Given the description of an element on the screen output the (x, y) to click on. 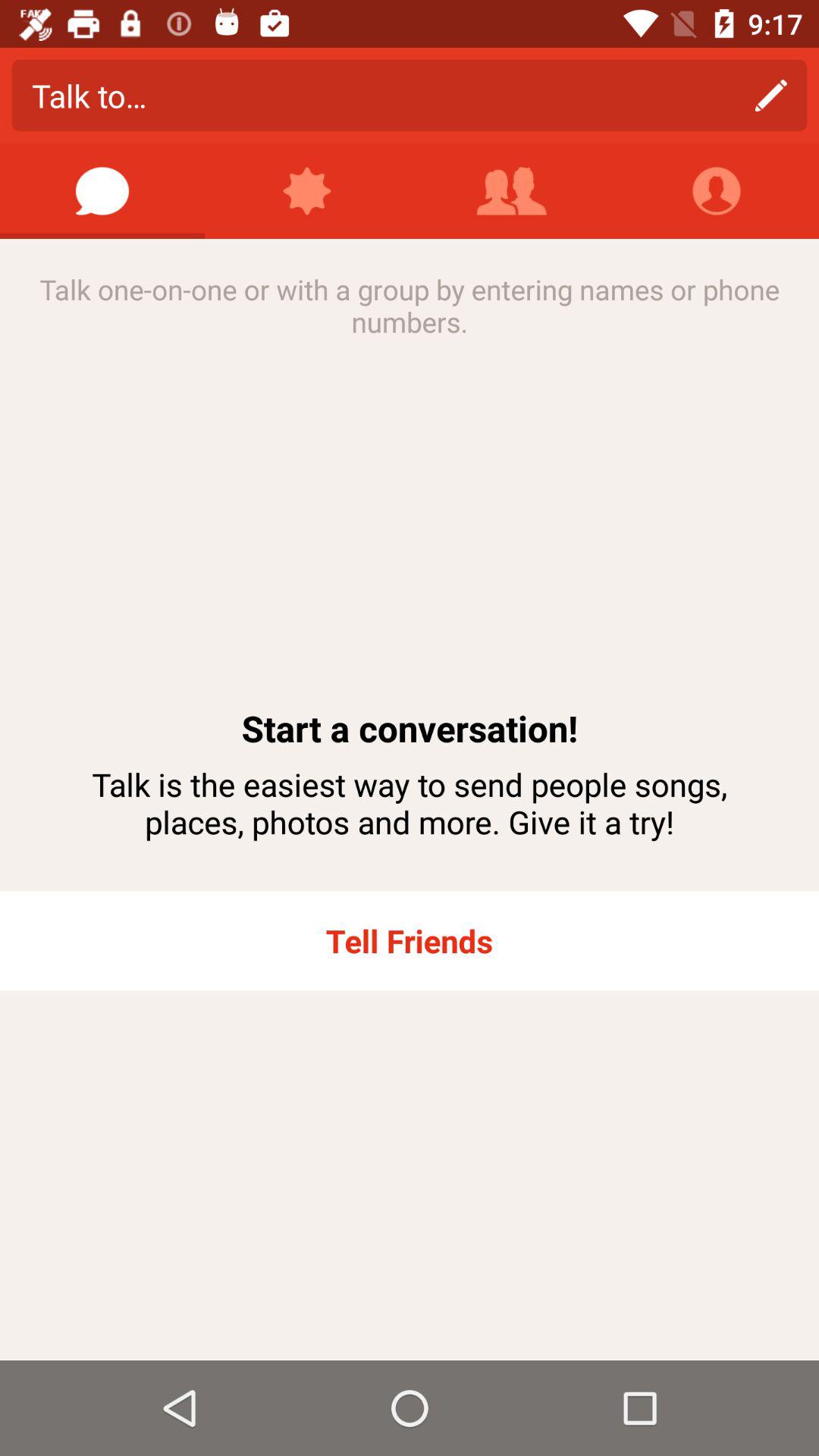
click the icon above talk one on app (306, 190)
